Given the description of an element on the screen output the (x, y) to click on. 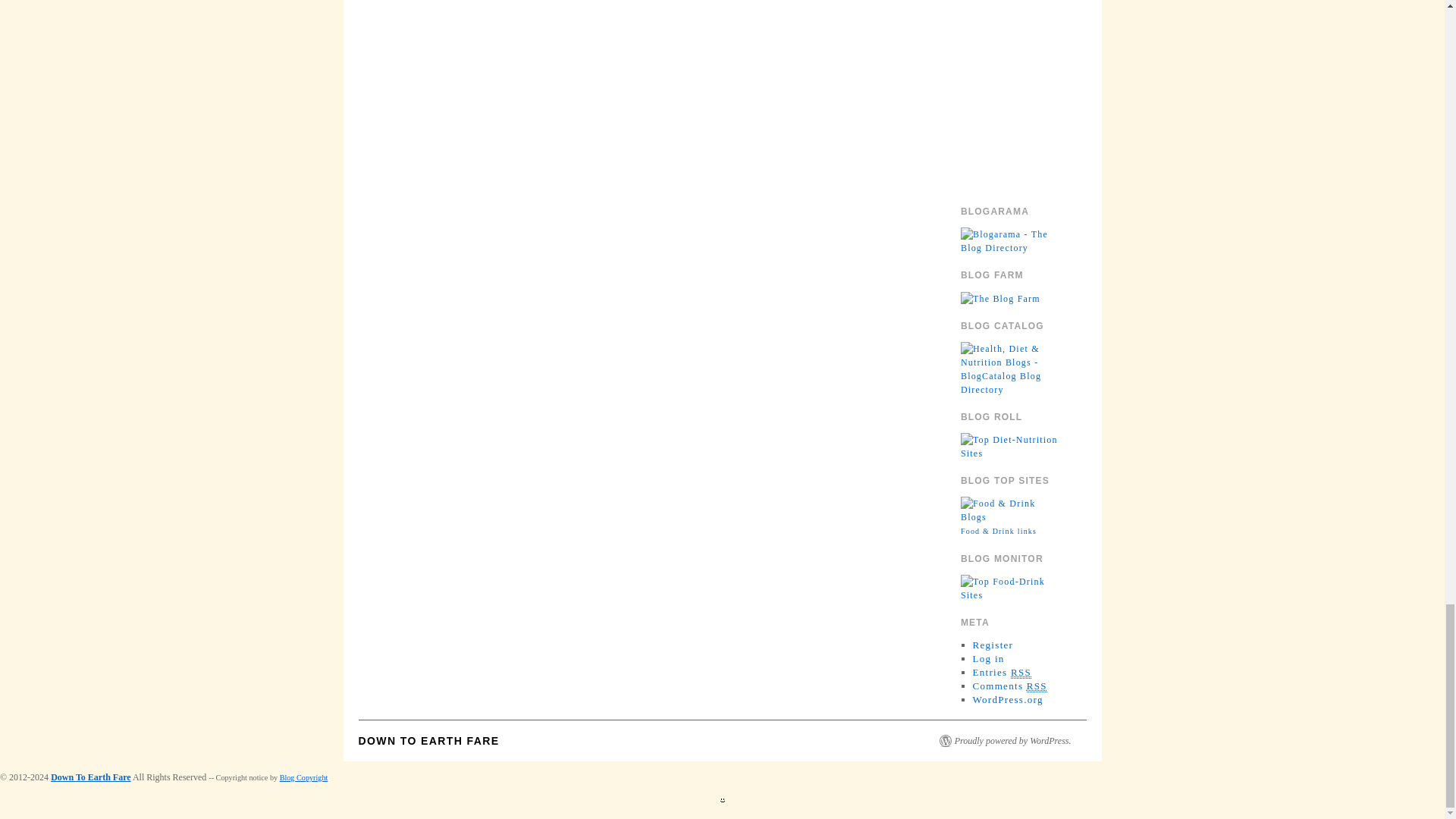
The Blog Farm (1000, 297)
